Given the description of an element on the screen output the (x, y) to click on. 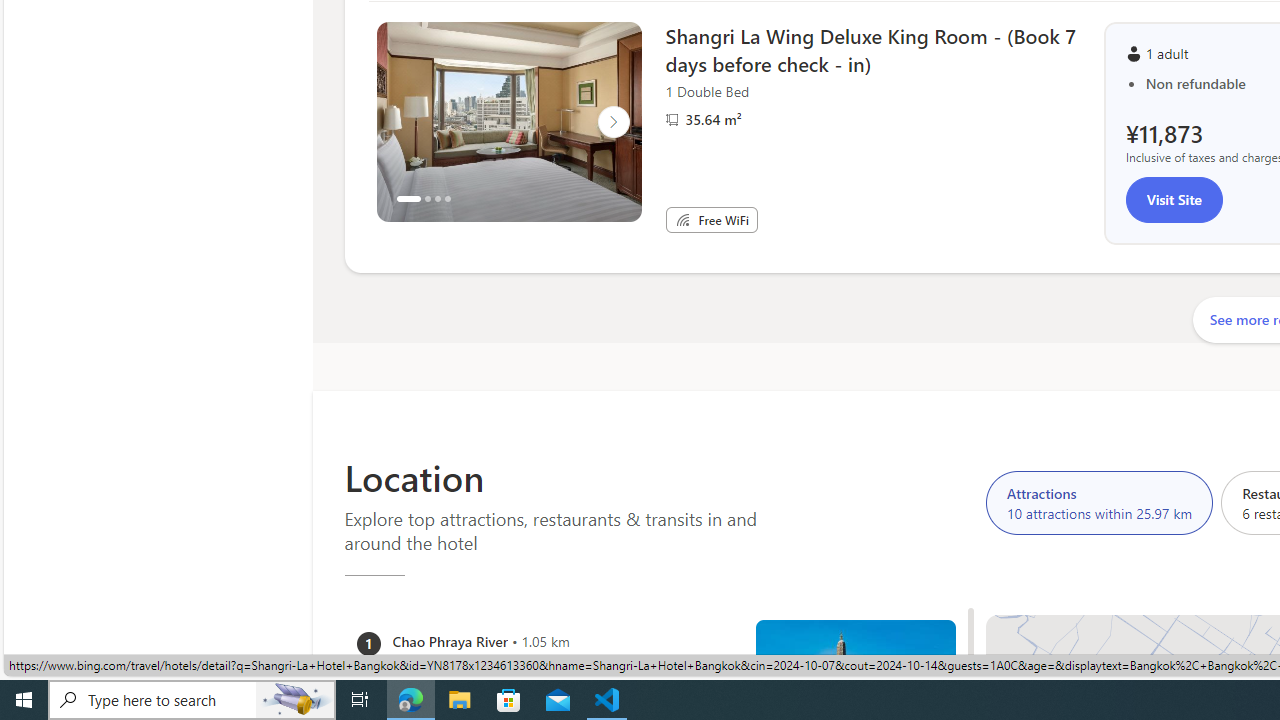
Free WiFi (682, 219)
Visit Site (1173, 200)
Attractions 10 attractions within 25.97 km (1099, 502)
Click to scroll right (612, 121)
Partner Image (671, 119)
